Given the description of an element on the screen output the (x, y) to click on. 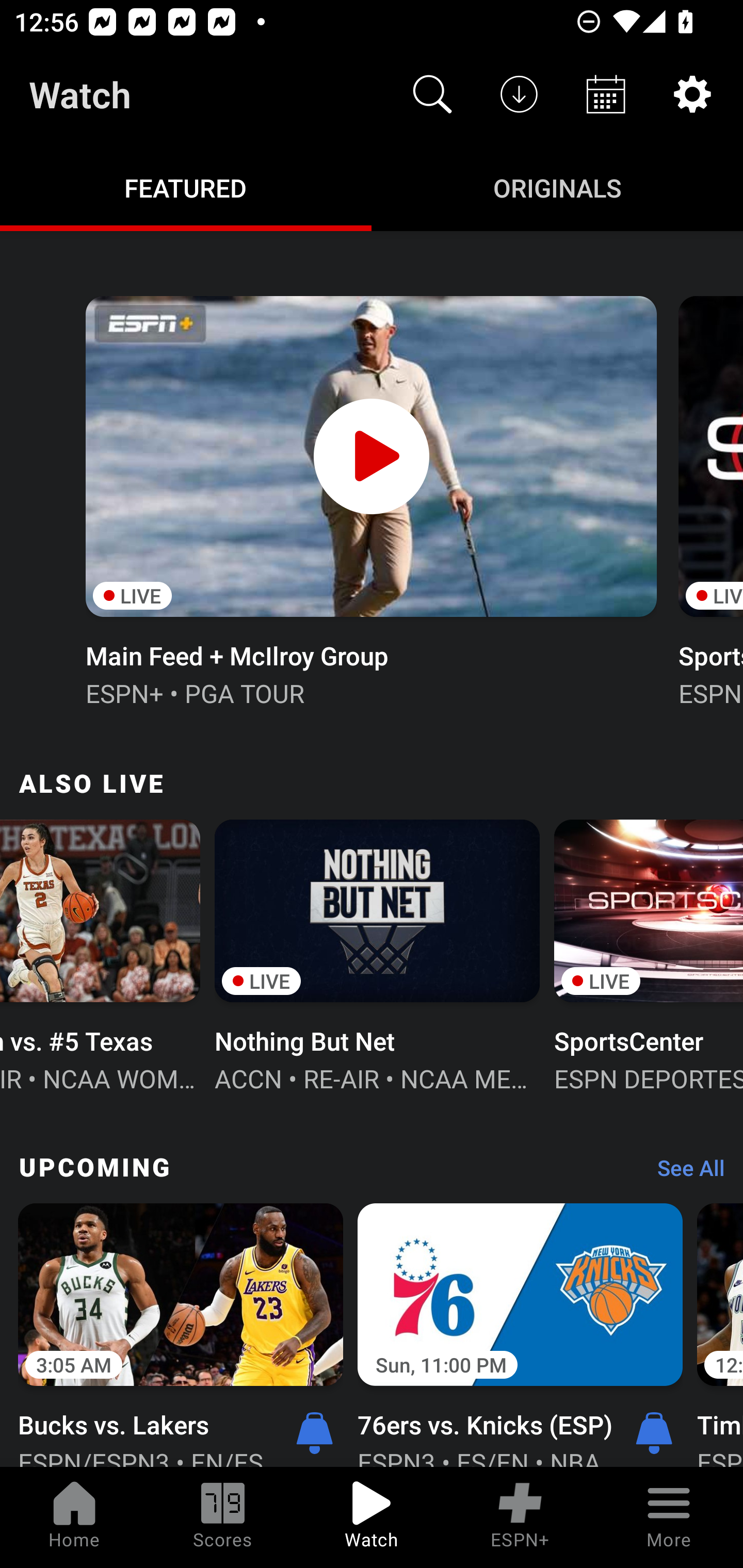
Search (432, 93)
Downloads (518, 93)
Schedule (605, 93)
Settings (692, 93)
Originals ORIGINALS (557, 187)
 LIVE Main Feed + McIlroy Group ESPN+ • PGA TOUR (370, 499)
See All (683, 1172)
Home (74, 1517)
Scores (222, 1517)
ESPN+ (519, 1517)
More (668, 1517)
